Given the description of an element on the screen output the (x, y) to click on. 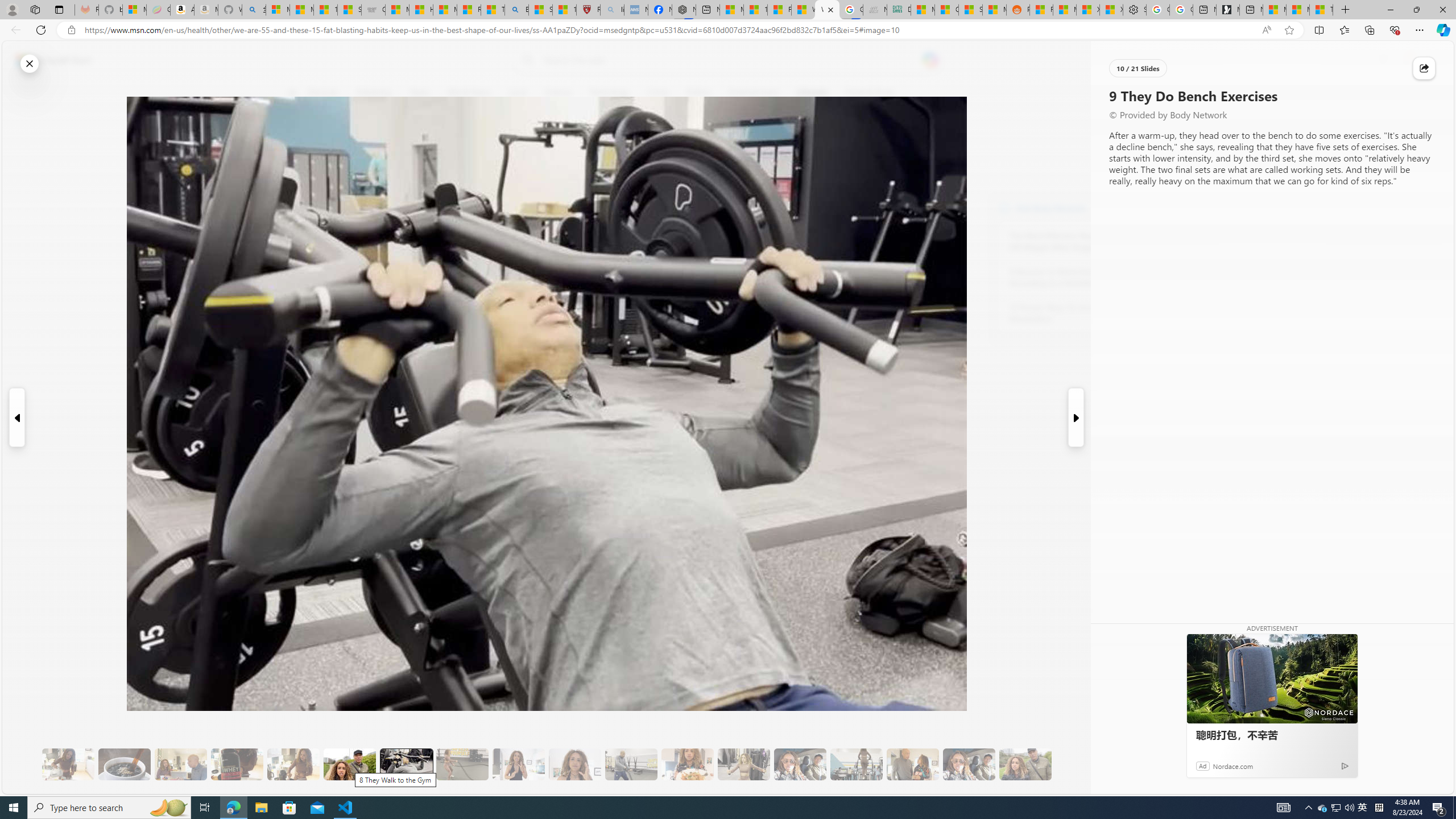
Nordace - Nordace Siena Is Not An Ordinary Backpack (683, 9)
14 They Have Salmon and Veggies for Dinner (687, 764)
16 The Couple's Program Helps with Accountability (800, 764)
13 Her Husband Does Group Cardio Classs (631, 764)
Science - MSN (540, 9)
8 They Walk to the Gym (349, 764)
8 Be Mindful of Coffee (124, 764)
Enter your search term (730, 59)
7 They Don't Skip Meals (293, 764)
